Given the description of an element on the screen output the (x, y) to click on. 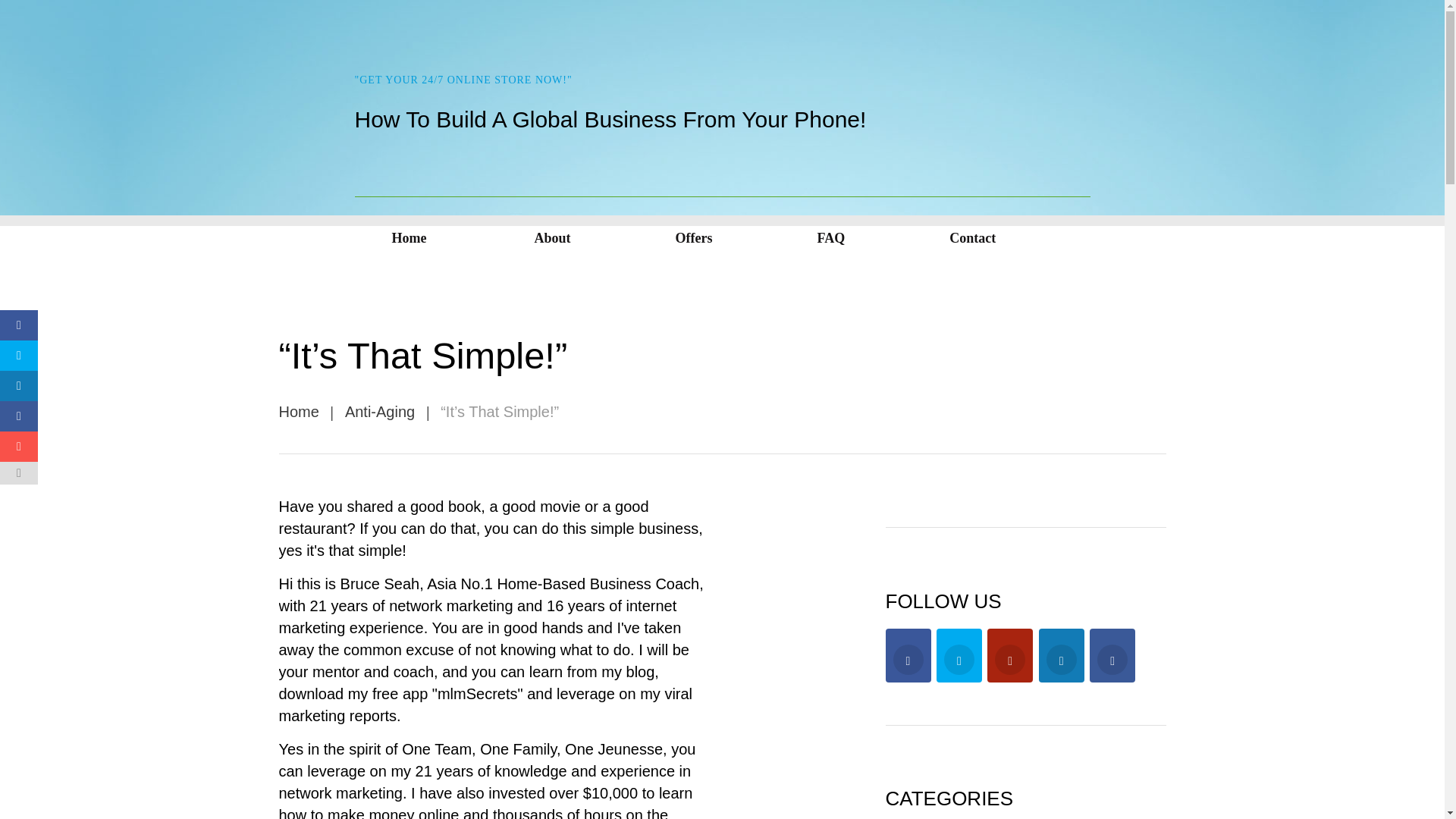
FAQ (831, 224)
Home (298, 411)
Home (409, 224)
Offers (694, 224)
Contact (972, 224)
About (551, 224)
Anti-Aging (379, 411)
How To Build a Global Business From Your Phone! (463, 79)
